Given the description of an element on the screen output the (x, y) to click on. 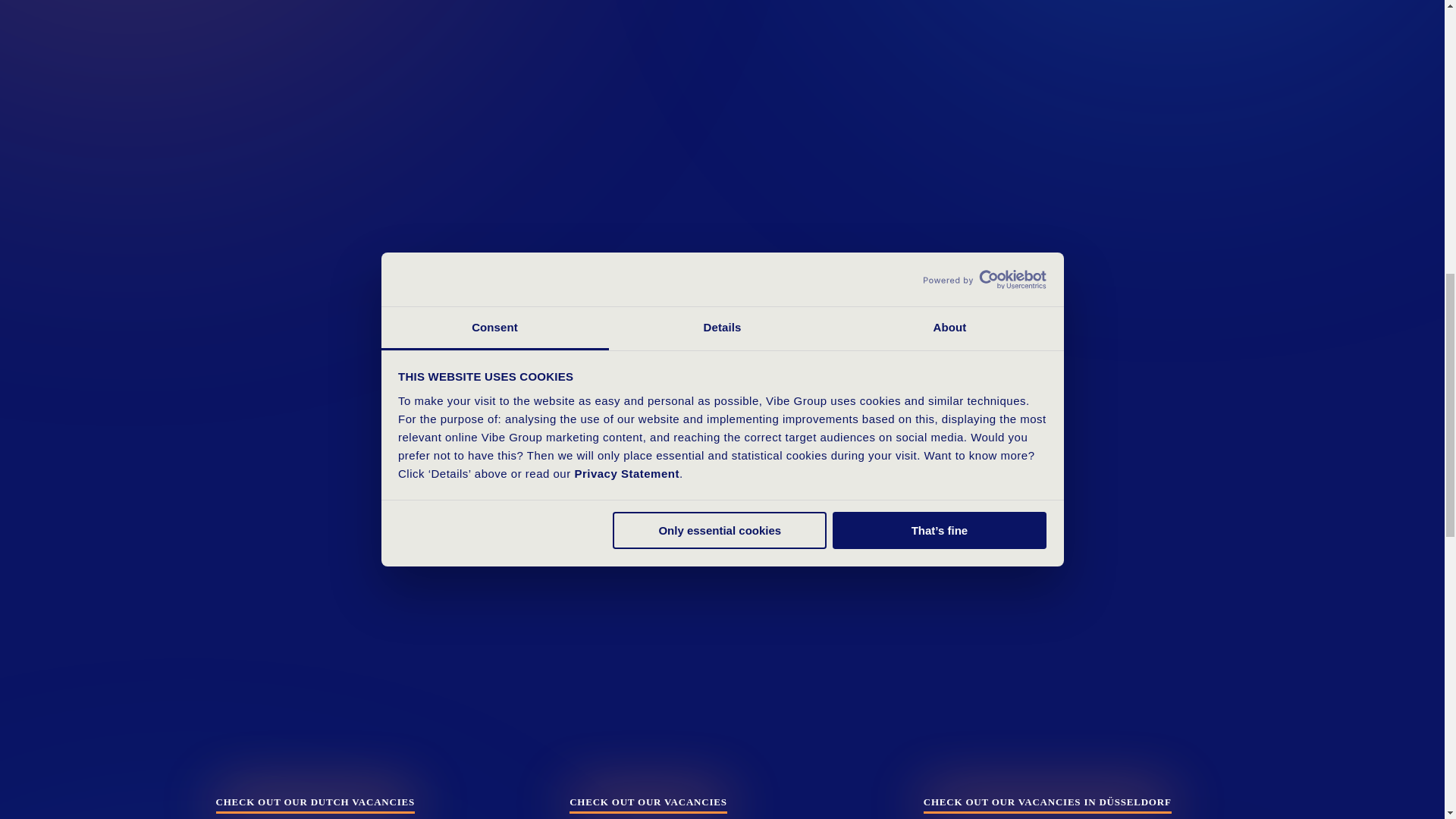
Check out our Dutch vacancies (314, 804)
Check out our vacancies (647, 804)
